Given the description of an element on the screen output the (x, y) to click on. 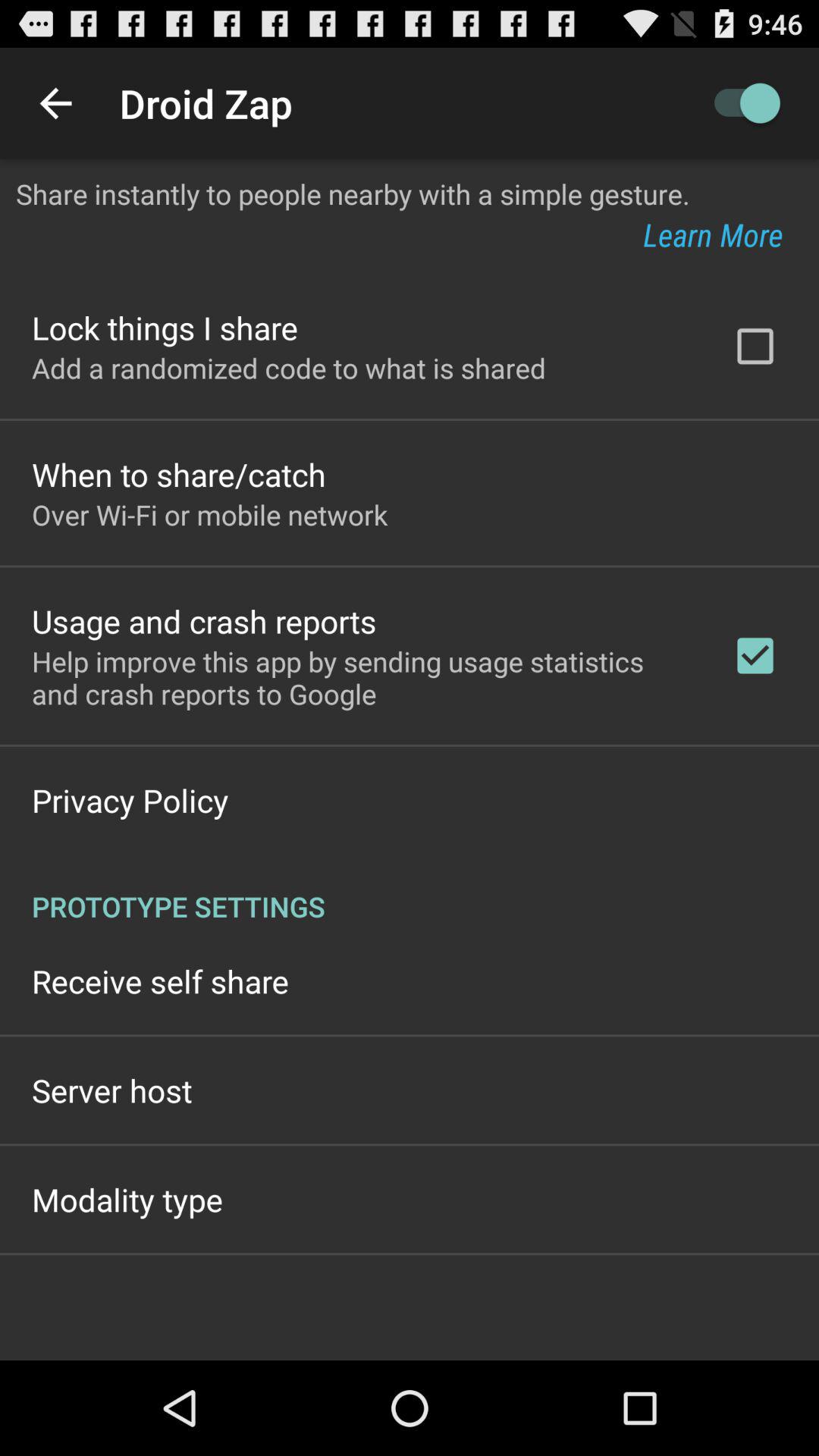
toggle droid zap (739, 103)
